Given the description of an element on the screen output the (x, y) to click on. 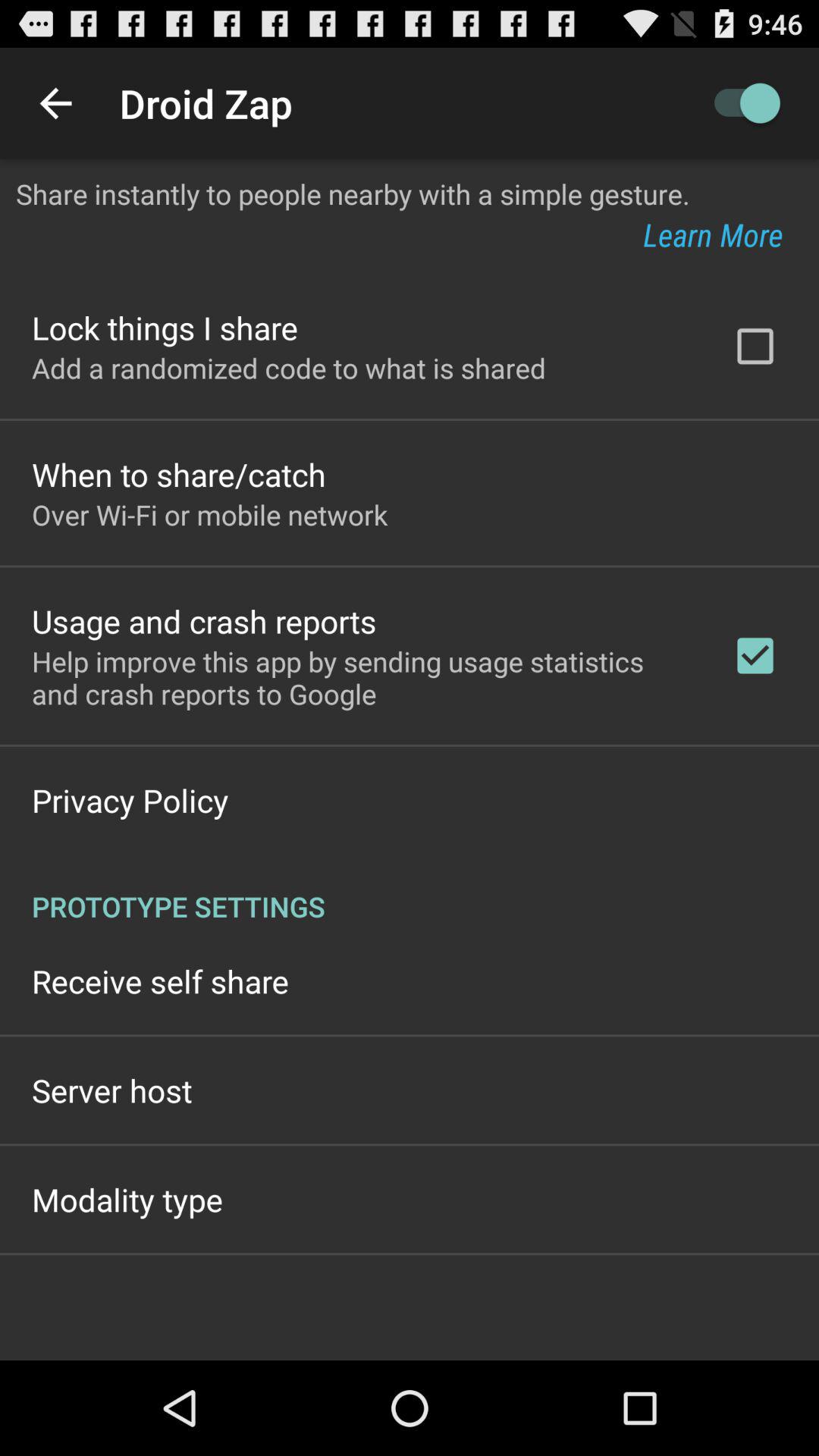
toggle droid zap (739, 103)
